Given the description of an element on the screen output the (x, y) to click on. 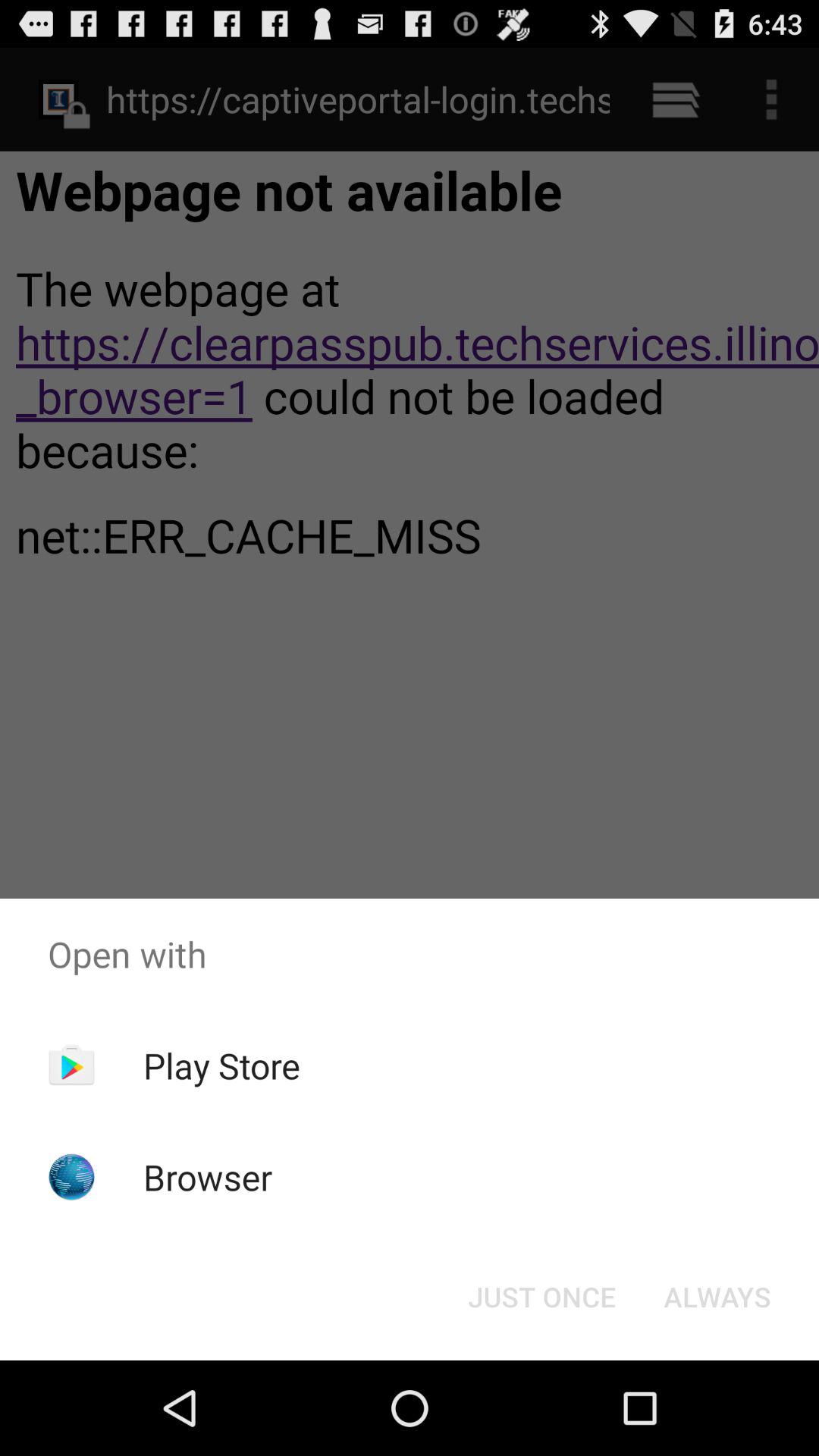
turn on the play store item (221, 1065)
